Given the description of an element on the screen output the (x, y) to click on. 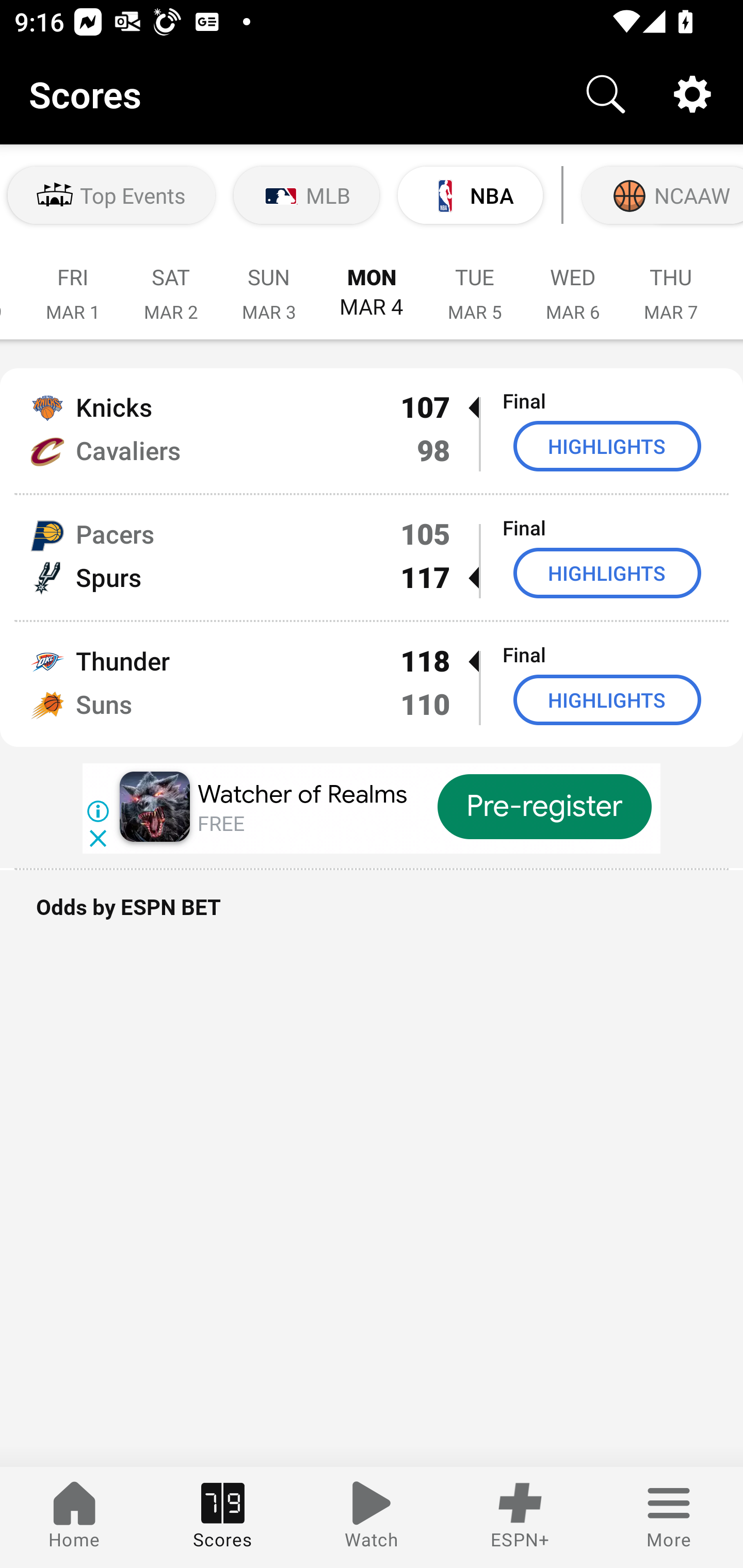
Search (605, 93)
Settings (692, 93)
 Top Events (111, 194)
MLB (306, 194)
NBA (470, 194)
NCAAW (660, 194)
FRI MAR 1 (72, 283)
SAT MAR 2 (170, 283)
SUN MAR 3 (268, 283)
MON MAR 4 (371, 283)
TUE MAR 5 (474, 283)
WED MAR 6 (572, 283)
THU MAR 7 (670, 283)
Knicks 107  Final Cavaliers 98 HIGHLIGHTS (371, 430)
HIGHLIGHTS (607, 445)
Pacers 105 Final Spurs 117  HIGHLIGHTS (371, 557)
HIGHLIGHTS (607, 572)
Thunder 118  Final Suns 110 HIGHLIGHTS (371, 684)
HIGHLIGHTS (607, 699)
Pre-register (544, 806)
Watcher of Realms (302, 793)
FREE (221, 823)
Odds by ESPN BET (371, 917)
Home (74, 1517)
Watch (371, 1517)
ESPN+ (519, 1517)
More (668, 1517)
